Given the description of an element on the screen output the (x, y) to click on. 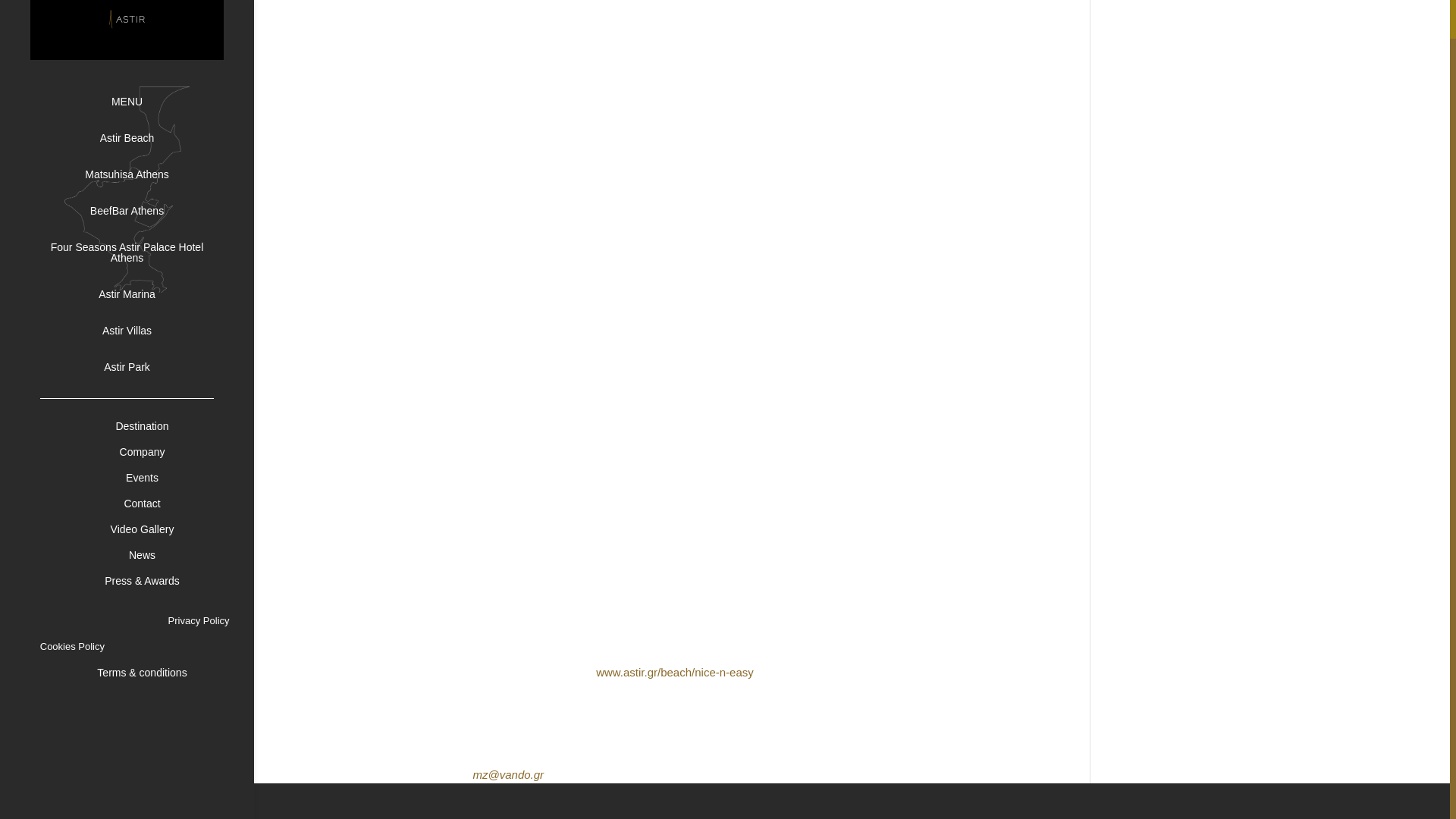
Astir Beach (142, 98)
Astir Marina (142, 254)
Four Seasons Astir Palace Hotel Athens (142, 212)
Matsuhisa Athens (142, 135)
BeefBar Athens (142, 171)
Contact (142, 462)
MENU (142, 62)
Astir Villas (142, 290)
Video Gallery (142, 488)
Astir Park (142, 327)
